Given the description of an element on the screen output the (x, y) to click on. 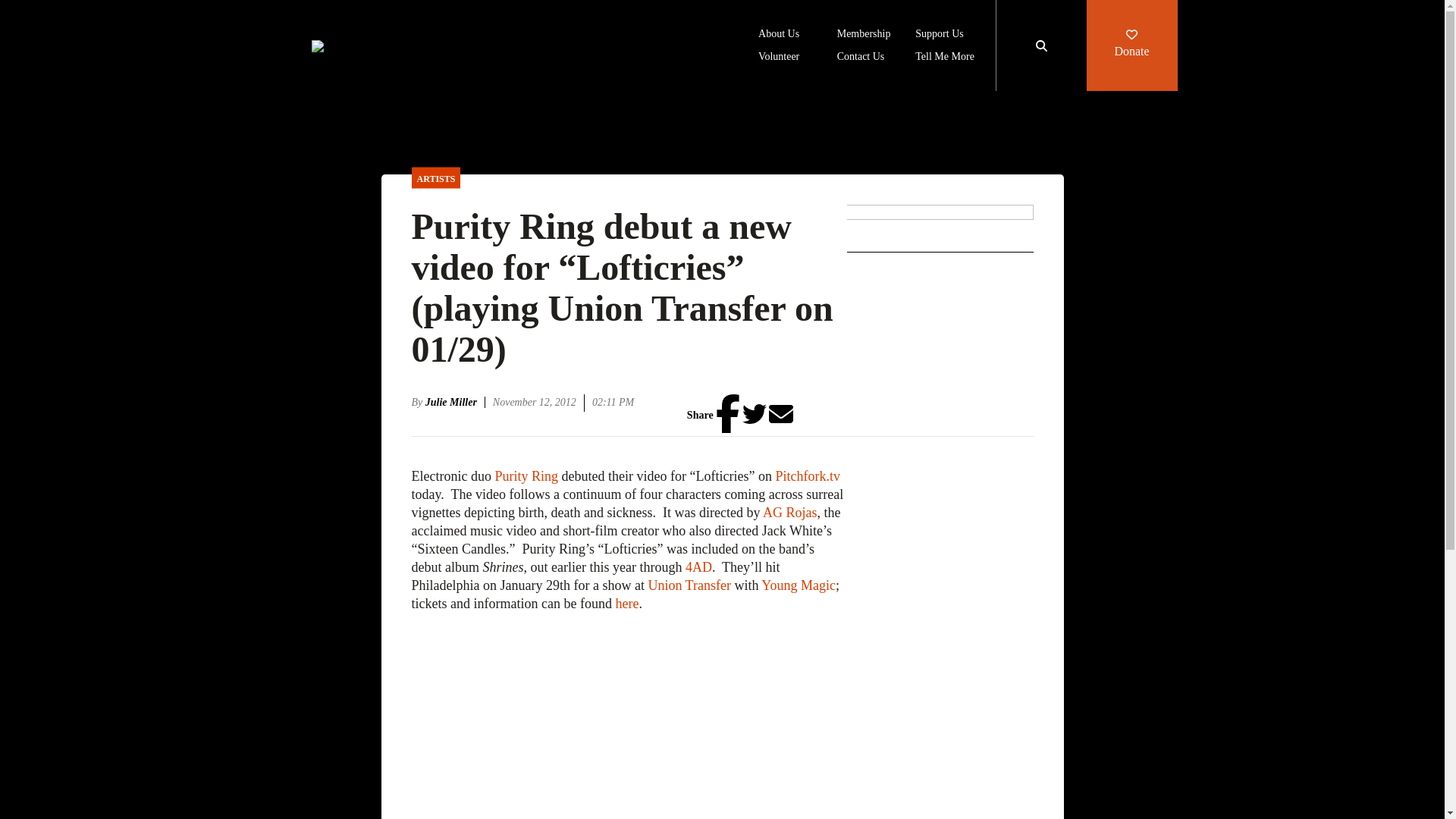
Membership (864, 35)
Donate (1131, 45)
Contact Us (861, 57)
here (626, 603)
Support Us (938, 35)
Volunteer (778, 57)
Pitchfork.tv (807, 476)
Union Transfer (688, 585)
Young Magic (798, 585)
Tell Me More (944, 57)
